Given the description of an element on the screen output the (x, y) to click on. 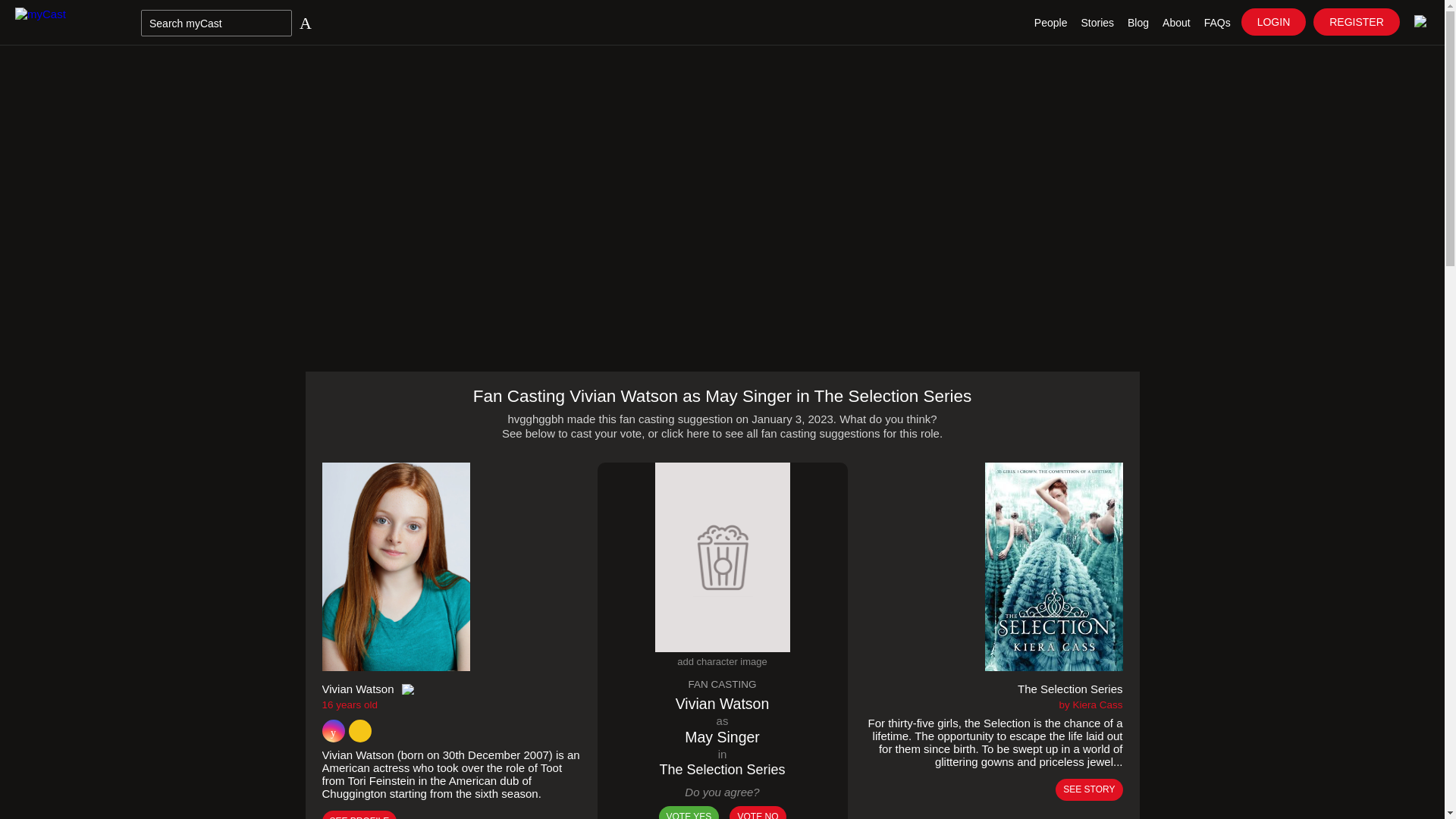
People (1050, 22)
About (1176, 22)
hvgghggbh User Profile (534, 418)
FAQs (1216, 22)
LOGIN (1273, 22)
Stories (1097, 22)
